Given the description of an element on the screen output the (x, y) to click on. 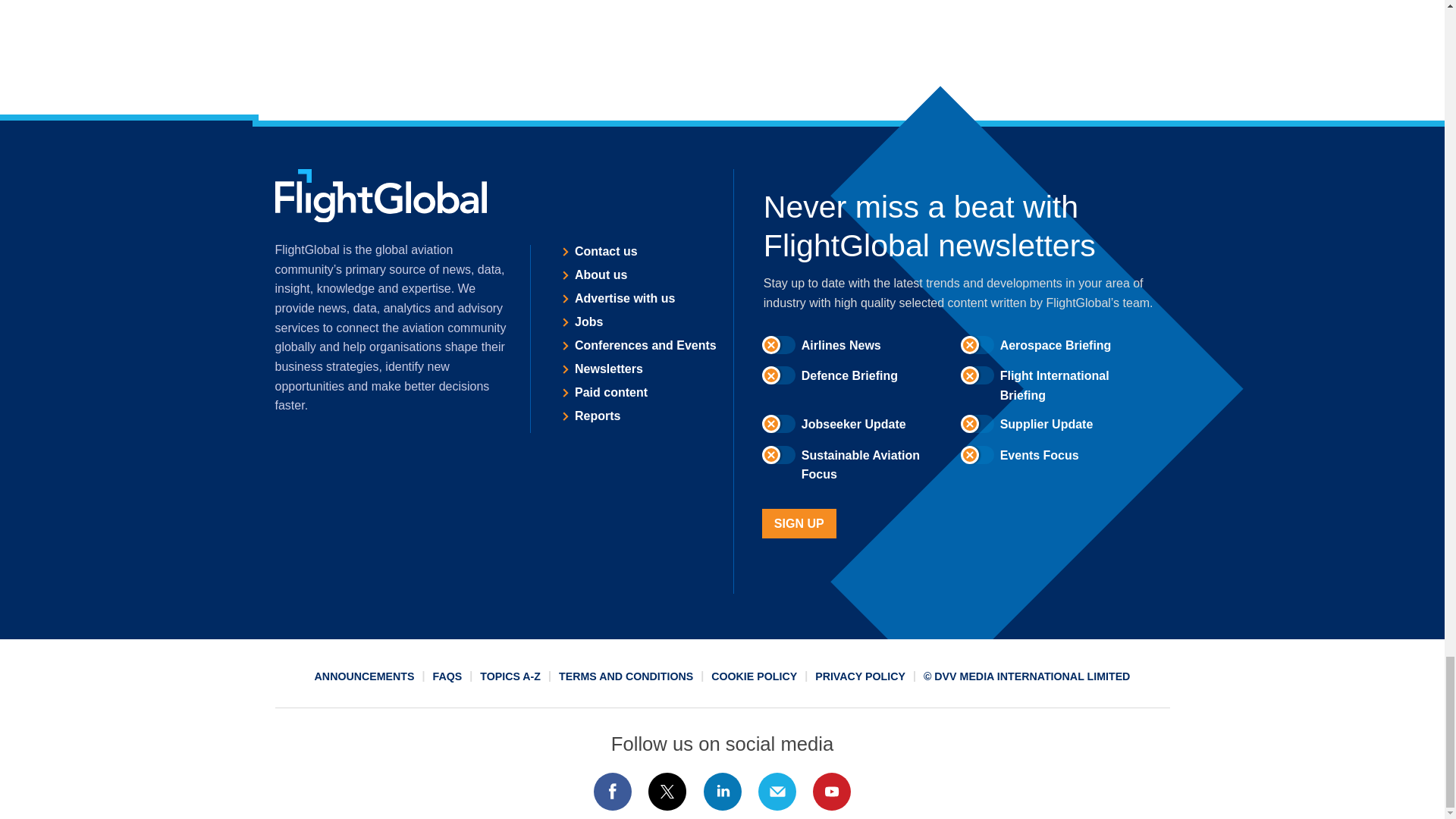
Connect with us on Linked In (721, 791)
Connect with us on Twitter (667, 791)
Connect with us on Facebook (611, 791)
Email us (776, 791)
